Given the description of an element on the screen output the (x, y) to click on. 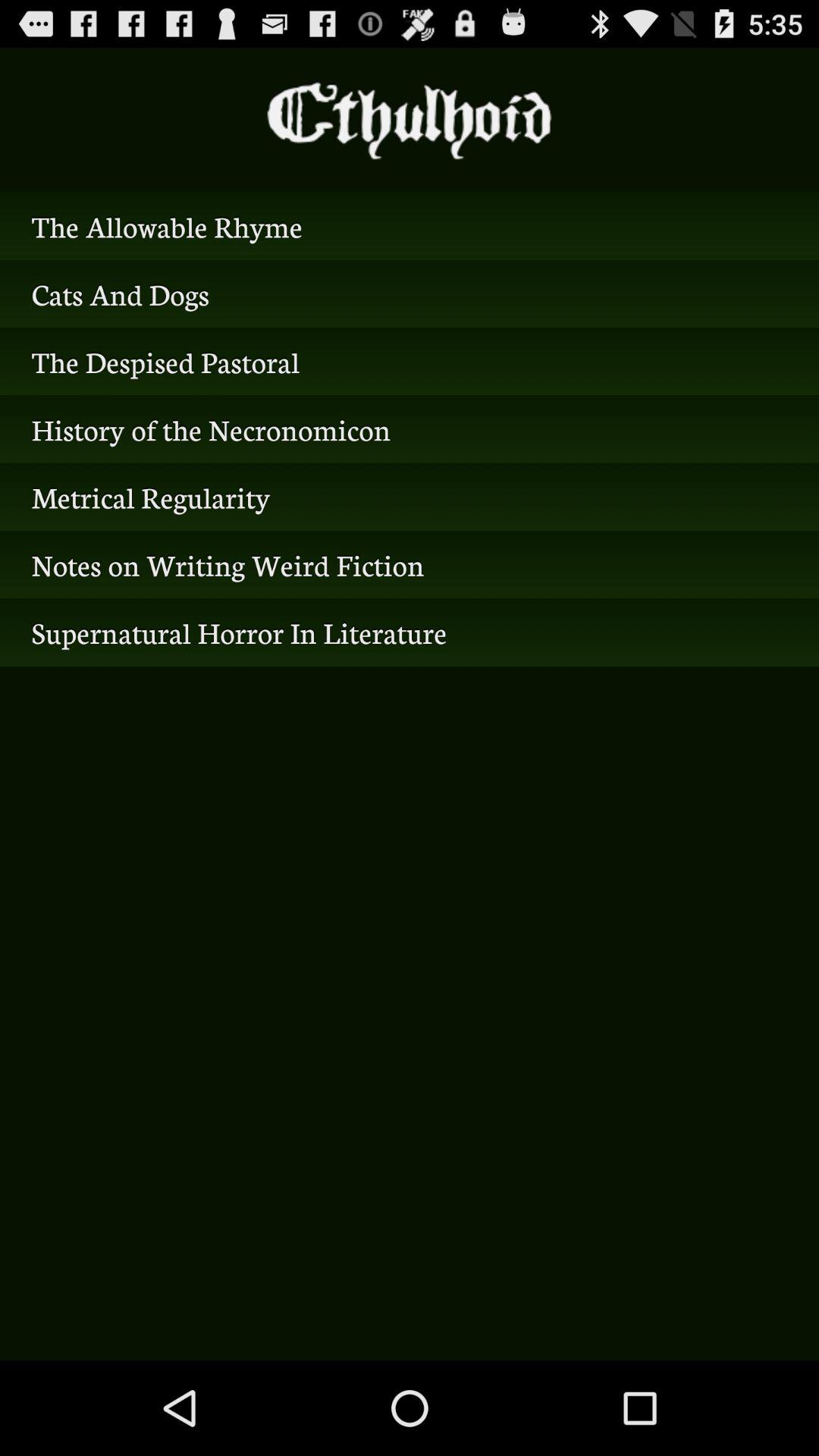
launch icon above metrical regularity icon (409, 429)
